Given the description of an element on the screen output the (x, y) to click on. 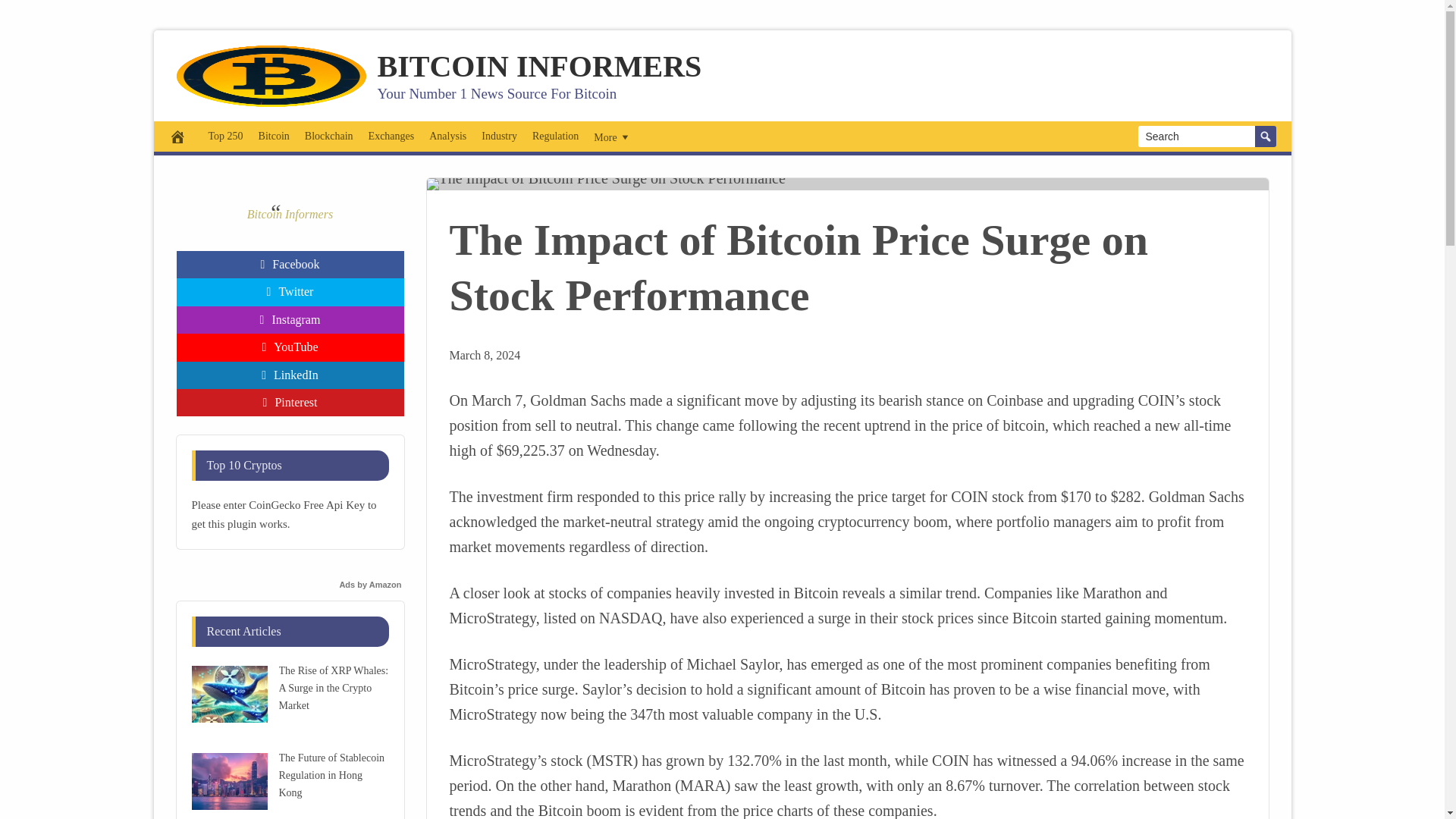
Top 250 (225, 136)
Regulation (555, 136)
Blockchain (329, 136)
Industry (499, 136)
Exchanges (391, 136)
More (612, 136)
